Given the description of an element on the screen output the (x, y) to click on. 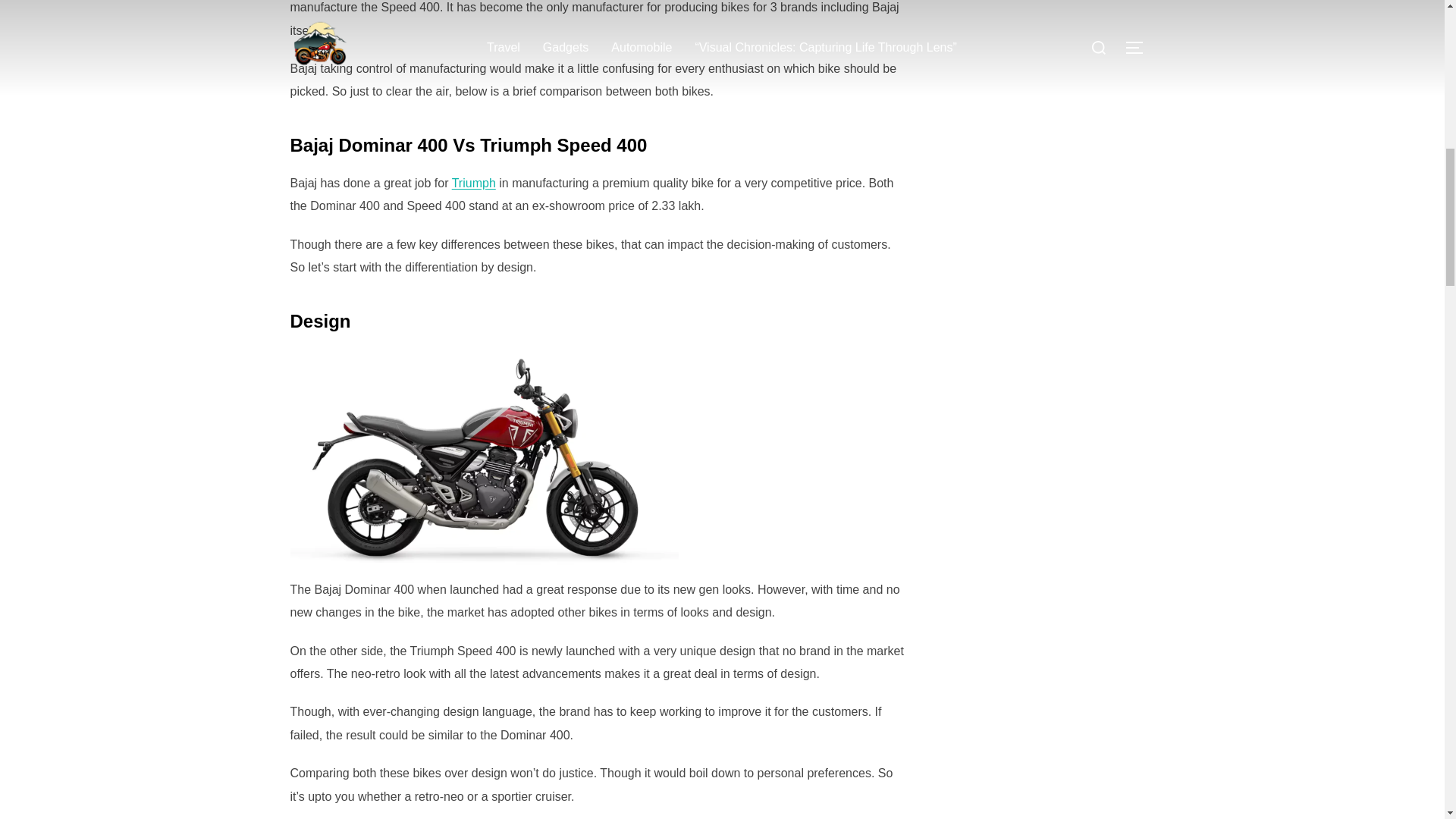
Triumph (473, 182)
Triumph Speed 400 Revealed with Competitive Pricing of 2.23L (473, 182)
